Given the description of an element on the screen output the (x, y) to click on. 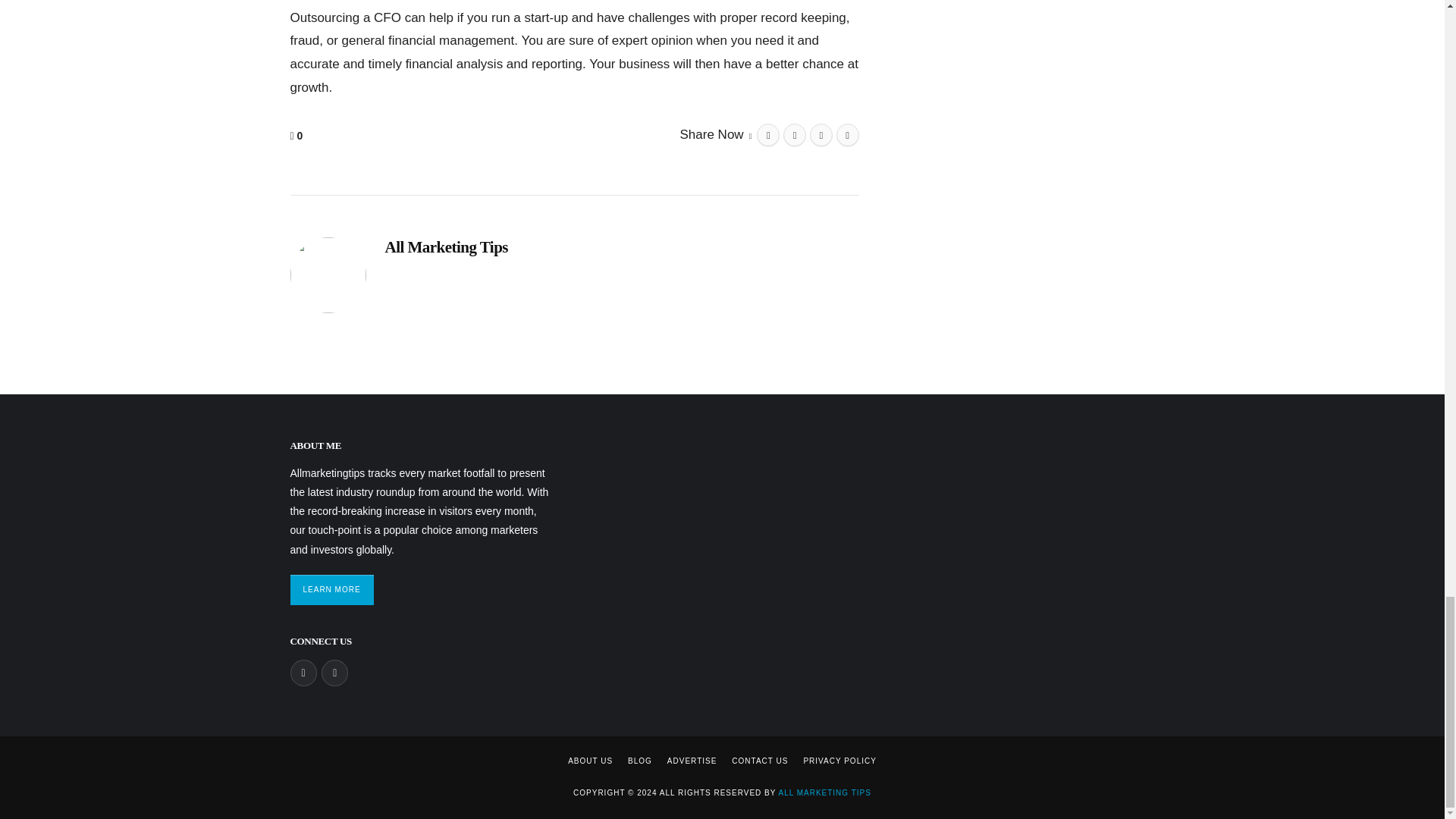
Like (297, 136)
Posts by All Marketing Tips (446, 247)
 0 (297, 136)
All Marketing Tips (446, 247)
